Given the description of an element on the screen output the (x, y) to click on. 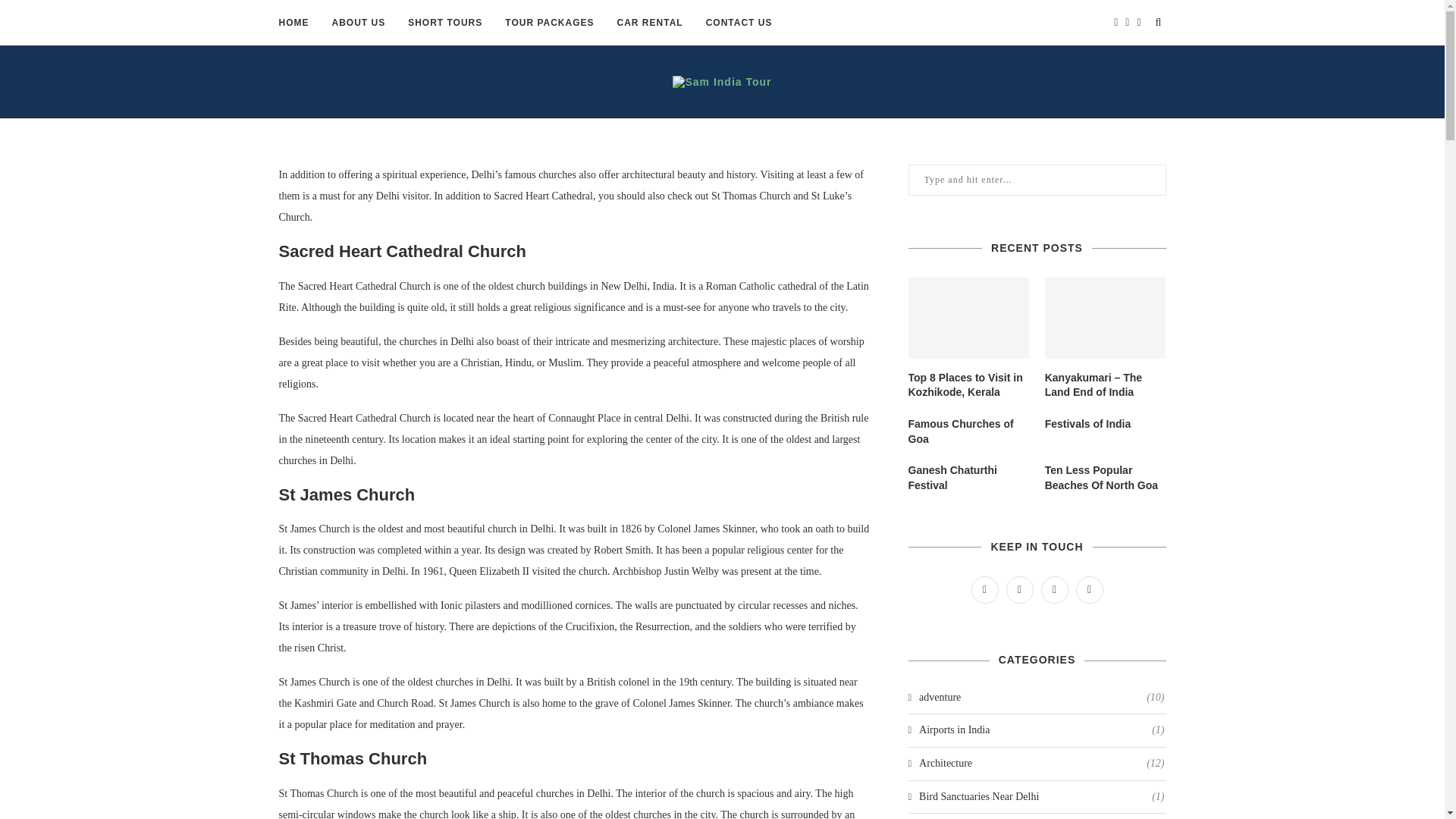
CAR RENTAL (649, 22)
SHORT TOURS (444, 22)
Ganesh Chaturthi Festival (968, 478)
Ten Less Popular Beaches Of North Goa (1105, 478)
ABOUT US (358, 22)
Famous Churches of Goa (968, 431)
TOUR PACKAGES (549, 22)
Festivals of India (1105, 424)
Top 8 Places to Visit in Kozhikode, Kerala (968, 385)
CONTACT US (739, 22)
Top 8 Places to Visit in Kozhikode, Kerala (968, 317)
